Given the description of an element on the screen output the (x, y) to click on. 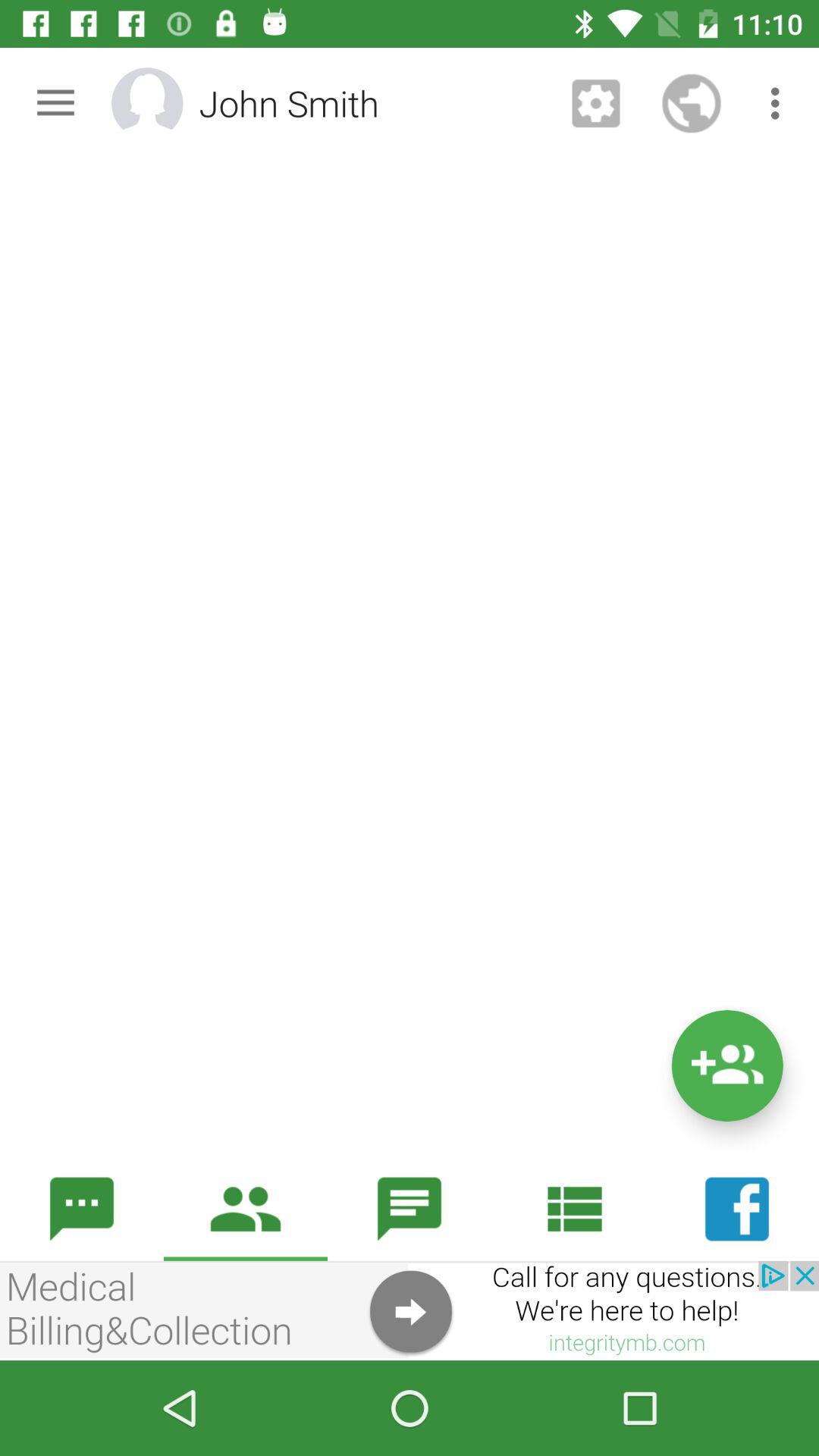
know about the advertisement (409, 1310)
